Given the description of an element on the screen output the (x, y) to click on. 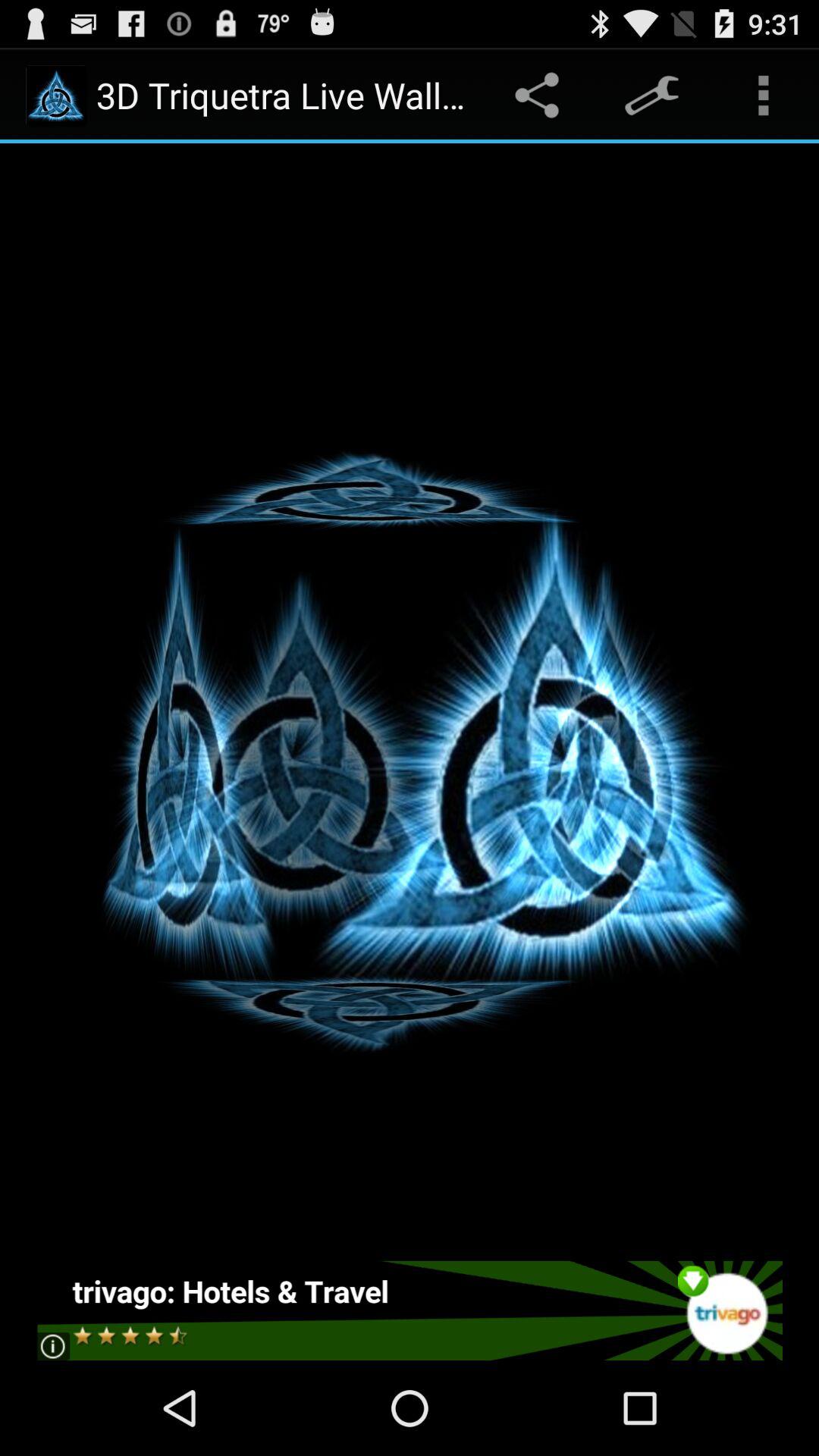
turn on icon next to the 3d triquetra live icon (540, 95)
